Given the description of an element on the screen output the (x, y) to click on. 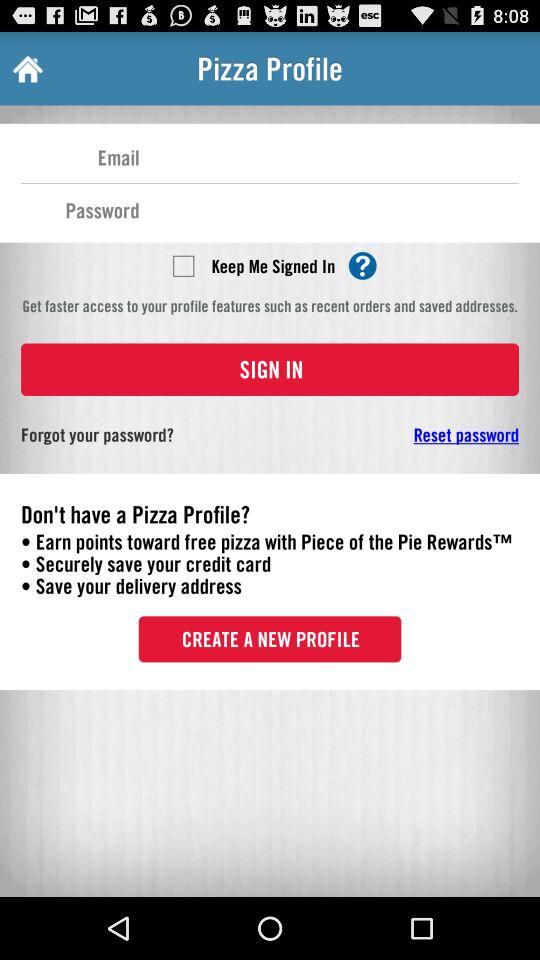
tap the app below the get faster access app (270, 369)
